Given the description of an element on the screen output the (x, y) to click on. 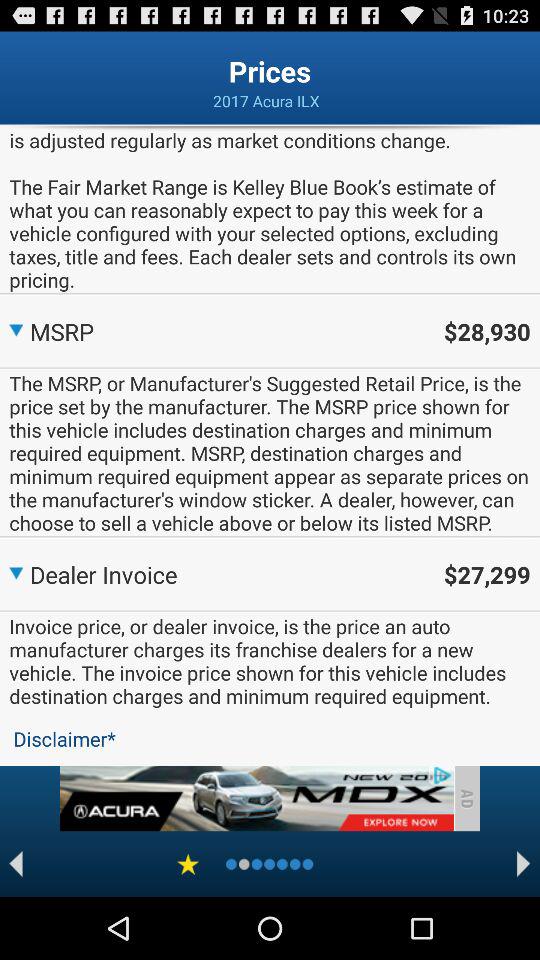
star icon (188, 864)
